Given the description of an element on the screen output the (x, y) to click on. 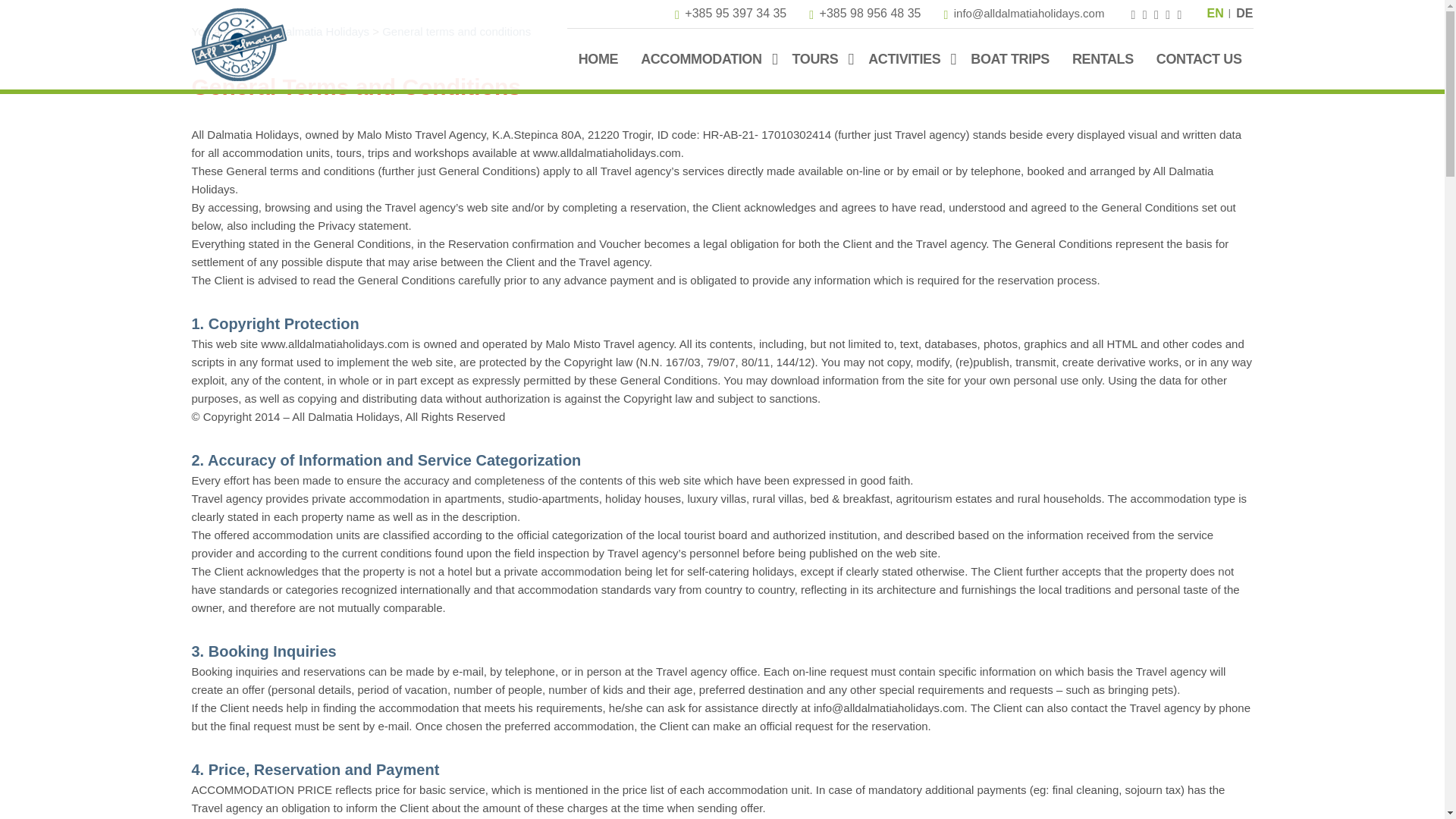
DE (1244, 12)
HOME (598, 59)
RENTALS (1102, 59)
All Dalmatia Holidays (315, 31)
BOAT TRIPS (1010, 59)
CONTACT US (1199, 59)
EN (1215, 12)
General terms and conditions (456, 31)
TOURS (815, 59)
ACCOMMODATION (700, 59)
